Given the description of an element on the screen output the (x, y) to click on. 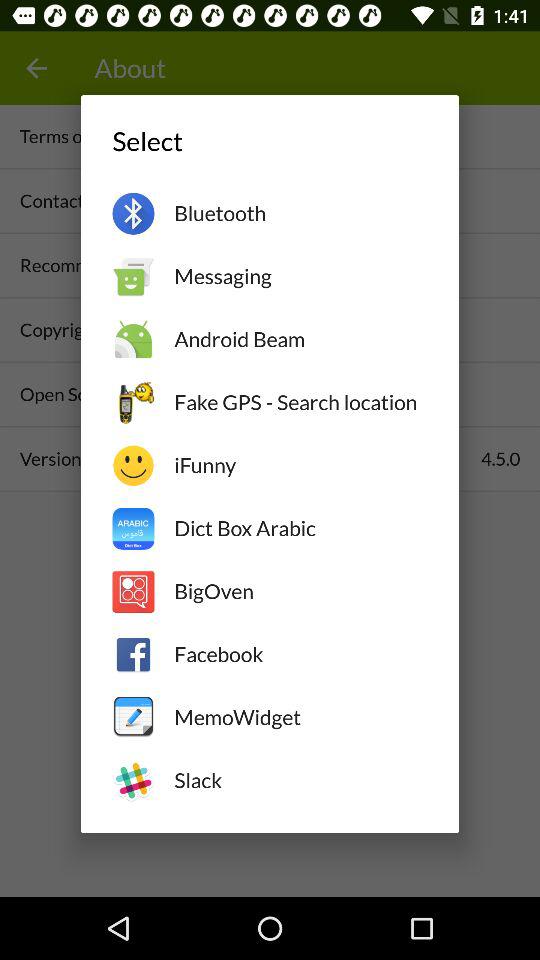
launch the item above messaging (300, 213)
